Given the description of an element on the screen output the (x, y) to click on. 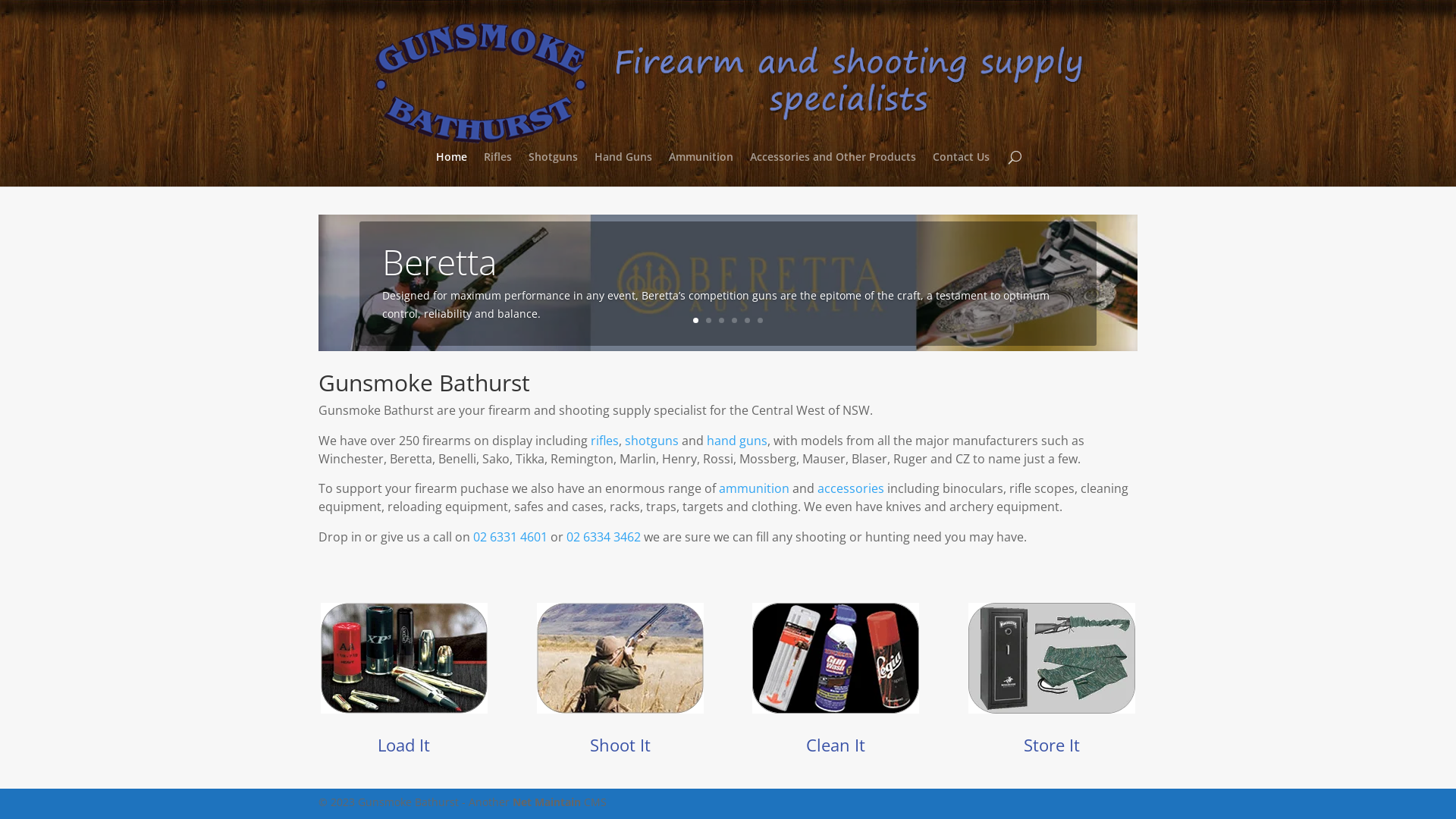
4 Element type: text (734, 320)
ammunition Element type: text (753, 488)
Net Maintain Element type: text (546, 801)
Hand Guns Element type: text (623, 168)
02 6331 4601 Element type: text (510, 536)
Home Element type: text (451, 168)
Rifles Element type: text (497, 168)
hand guns Element type: text (736, 440)
shotguns Element type: text (651, 440)
2 Element type: text (708, 320)
5 Element type: text (746, 320)
6 Element type: text (759, 320)
Ammunition Element type: text (700, 168)
Contact Us Element type: text (960, 168)
Accessories and Other Products Element type: text (832, 168)
3 Element type: text (721, 320)
Shotguns Element type: text (552, 168)
02 6334 3462 Element type: text (603, 536)
rifles Element type: text (604, 440)
accessories Element type: text (850, 488)
1 Element type: text (695, 320)
